Given the description of an element on the screen output the (x, y) to click on. 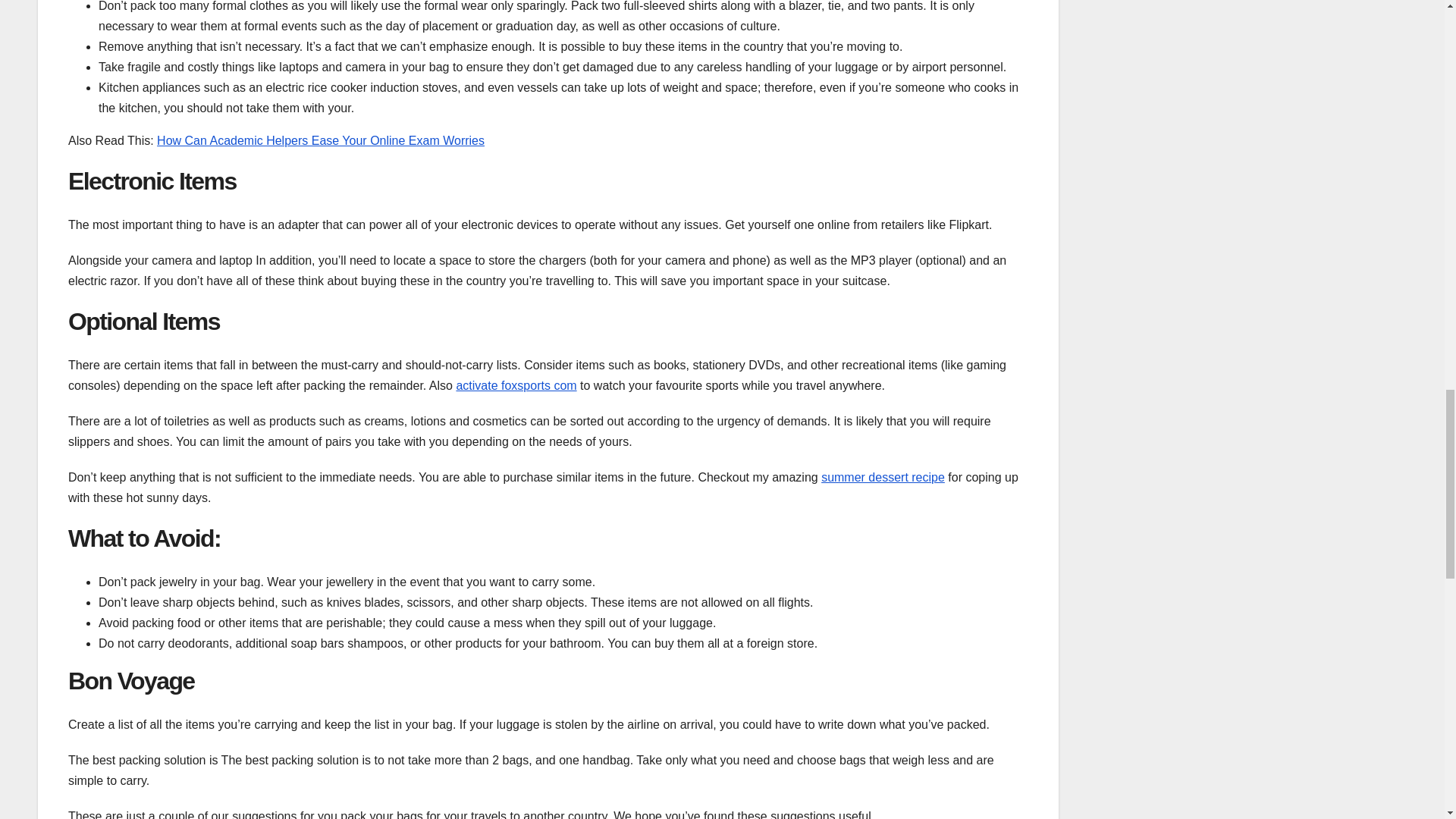
summer dessert recipe (882, 477)
activate foxsports com (515, 385)
How Can Academic Helpers Ease Your Online Exam Worries (320, 140)
